Given the description of an element on the screen output the (x, y) to click on. 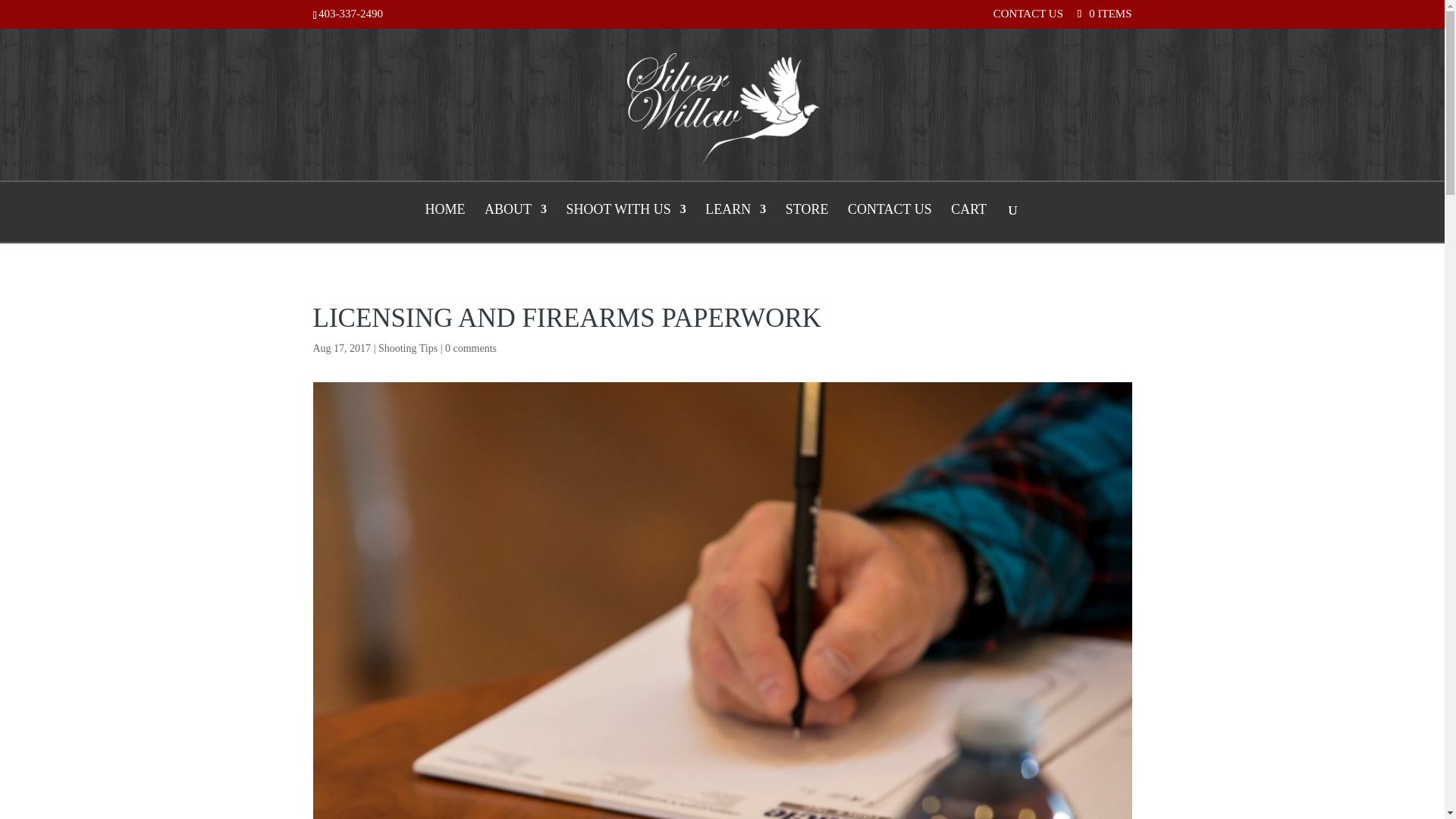
CONTACT US (1027, 17)
0 ITEMS (1102, 13)
STORE (807, 221)
CONTACT US (889, 221)
CART (968, 221)
SHOOT WITH US (625, 221)
ABOUT (515, 221)
HOME (444, 221)
LEARN (734, 221)
